Given the description of an element on the screen output the (x, y) to click on. 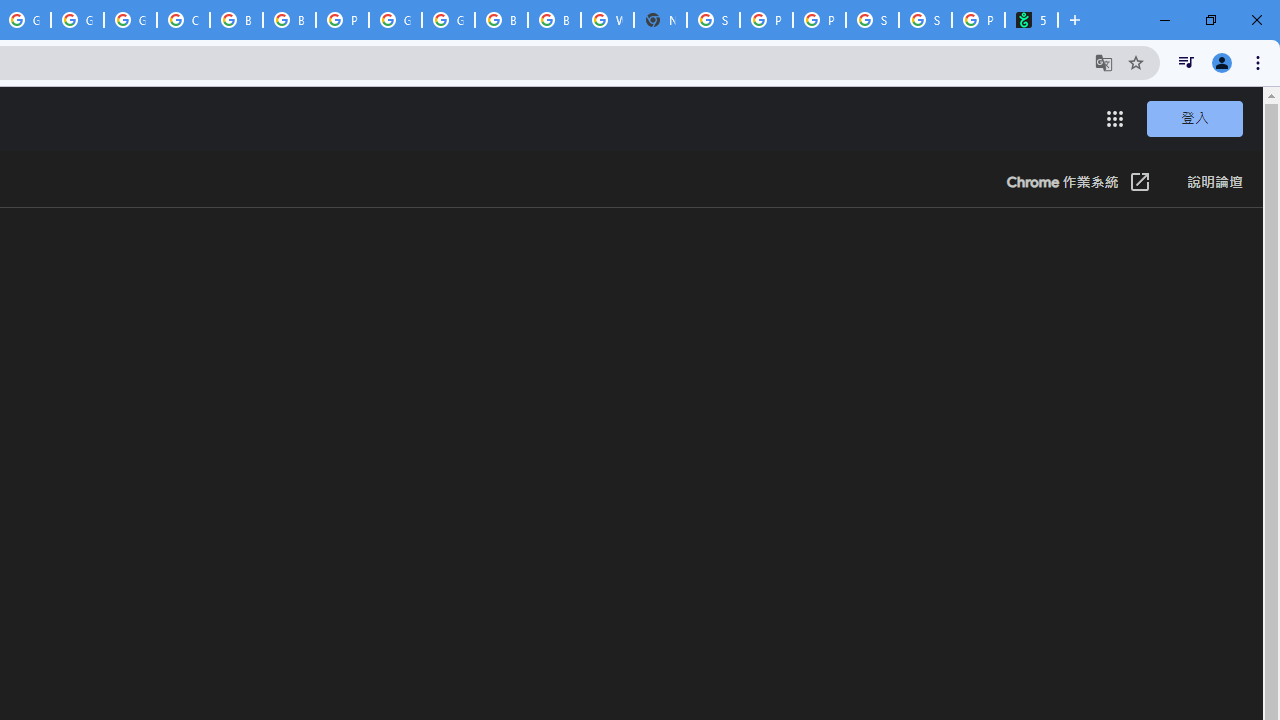
Control your music, videos, and more (1185, 62)
Browse Chrome as a guest - Computer - Google Chrome Help (554, 20)
Browse Chrome as a guest - Computer - Google Chrome Help (501, 20)
Browse Chrome as a guest - Computer - Google Chrome Help (289, 20)
Google Cloud Platform (77, 20)
Minimize (1165, 20)
Translate this page (1103, 62)
